Given the description of an element on the screen output the (x, y) to click on. 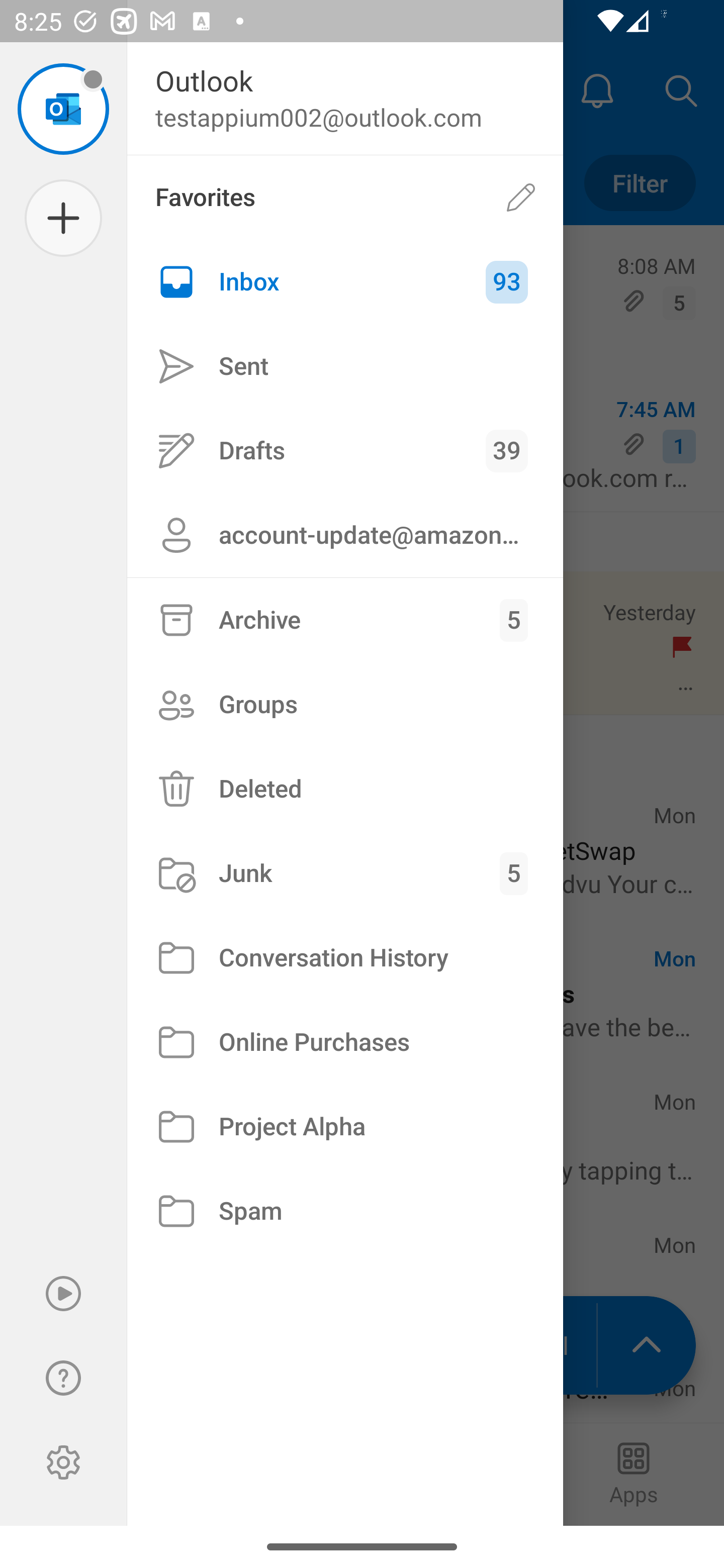
Edit favorites (520, 197)
Add account (63, 217)
Sent (345, 366)
Drafts Drafts, 39 unread emails (345, 450)
account-update@amazon.com (345, 534)
Archive Archive, 2 of 9, level 1, 5 unread emails (345, 619)
Groups Groups, 3 of 9, level 1 (345, 703)
Deleted Deleted, 4 of 9, level 1 (345, 788)
Junk Junk, 5 of 9, level 1, 5 unread emails (345, 873)
Online Purchases Online Purchases, 7 of 9, level 1 (345, 1042)
Project Alpha Project Alpha, 8 of 9, level 1 (345, 1127)
Spam Spam, 9 of 9, level 1 (345, 1210)
Play My Emails (62, 1293)
Help (62, 1377)
Settings (62, 1462)
